Given the description of an element on the screen output the (x, y) to click on. 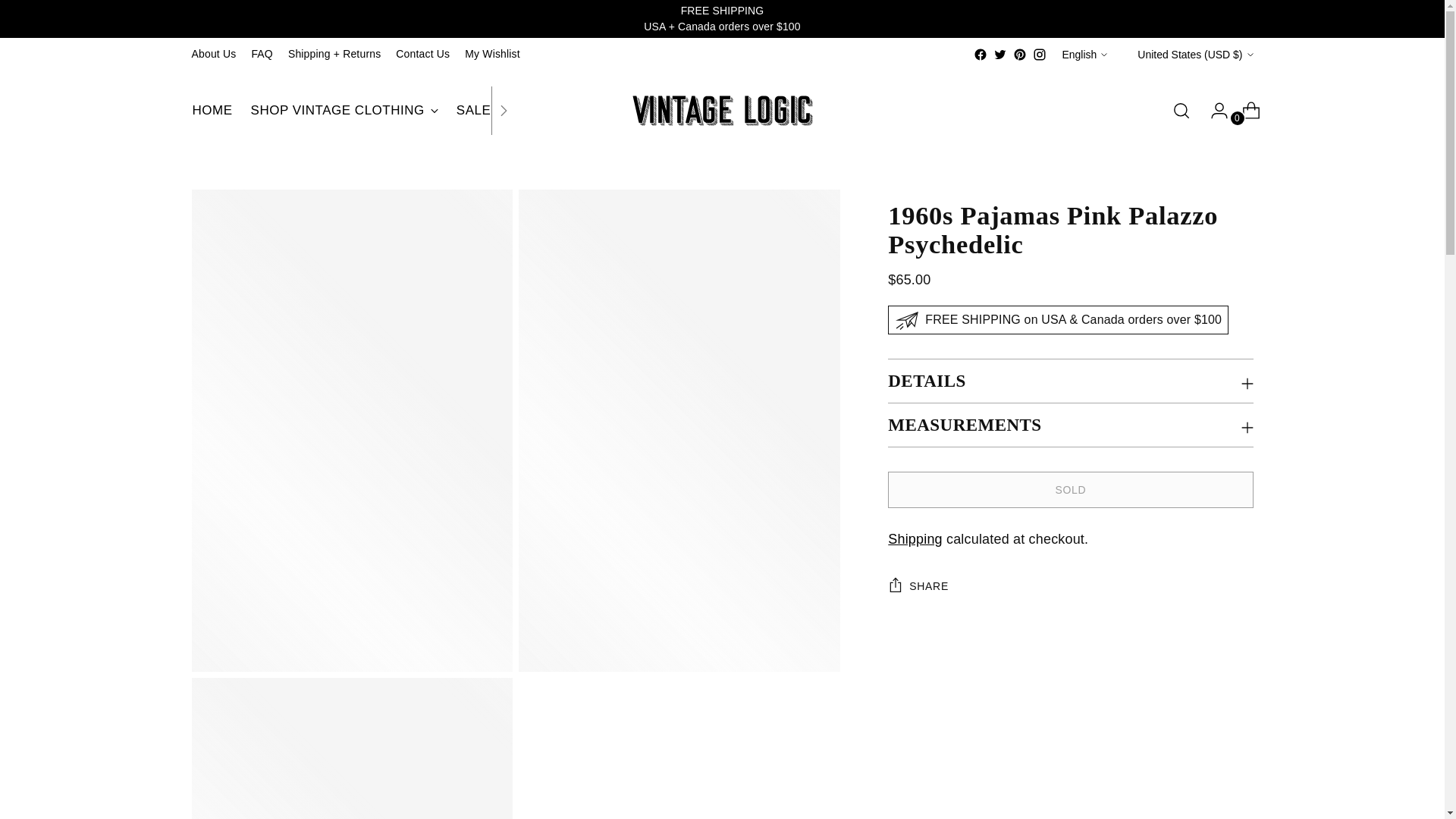
Contact Us (422, 54)
Vintage Logic on Facebook (980, 54)
Vintage Logic on Instagram (1039, 54)
My Wishlist (491, 54)
About Us (212, 54)
Vintage Logic on Twitter (999, 54)
English (352, 110)
Vintage Logic on Pinterest (1083, 54)
